Given the description of an element on the screen output the (x, y) to click on. 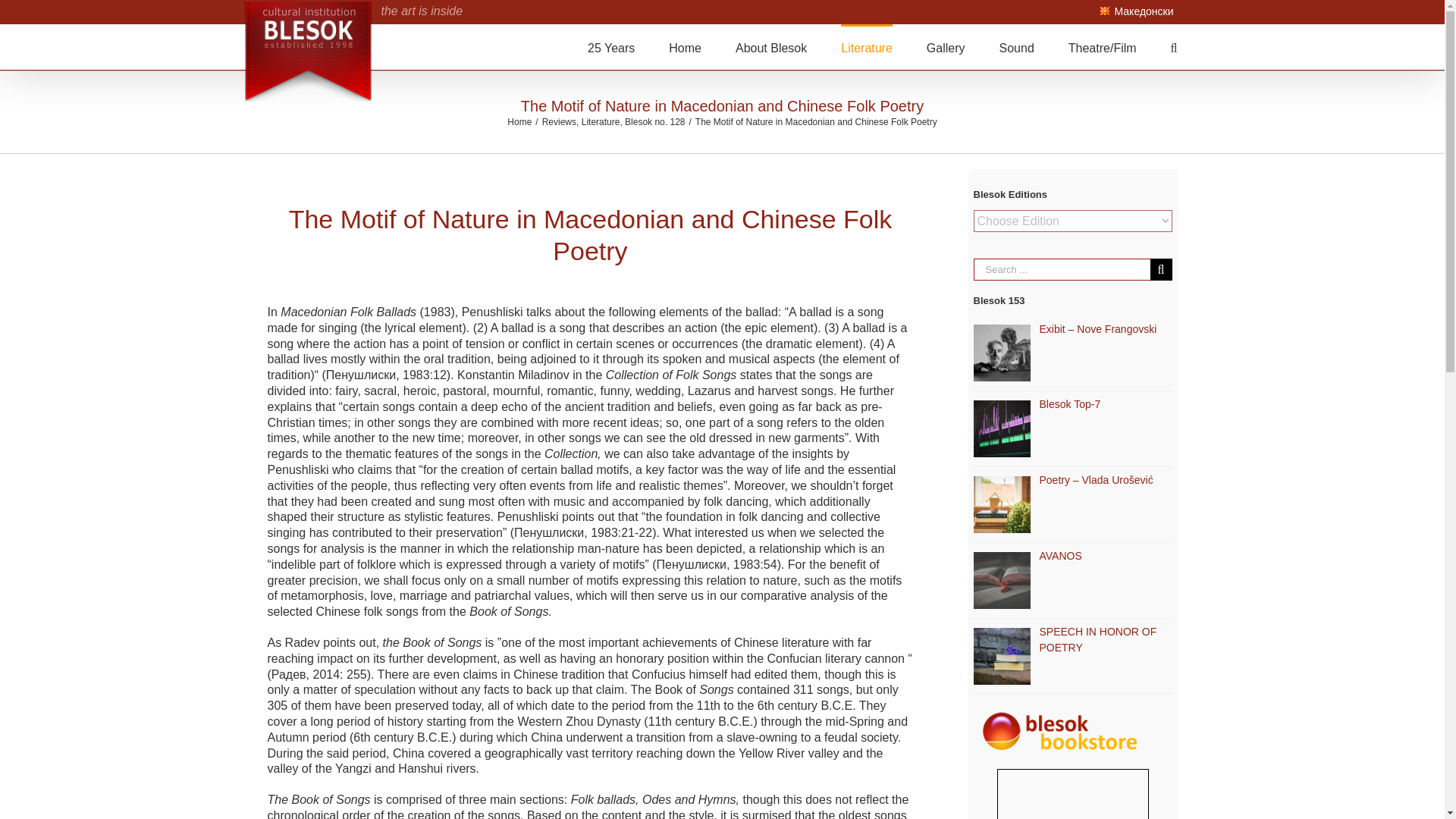
25 Years (611, 46)
Literature (866, 46)
About Blesok (770, 46)
